Given the description of an element on the screen output the (x, y) to click on. 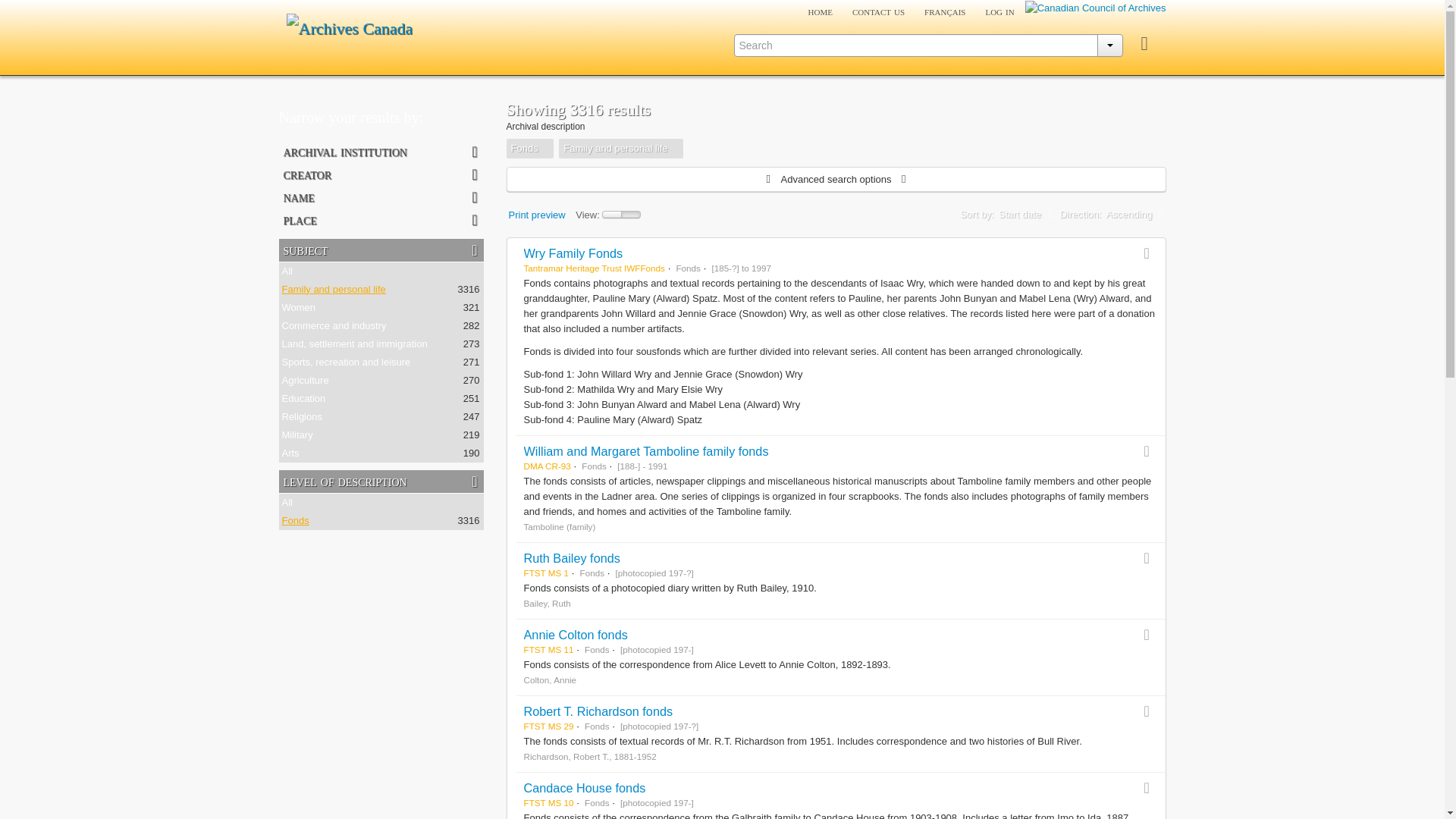
contact us (878, 11)
Contact us (878, 11)
creator (381, 173)
Log in (999, 11)
Home (820, 11)
home (820, 11)
log in (999, 11)
archival institution (381, 151)
Clipboard (1144, 44)
